Given the description of an element on the screen output the (x, y) to click on. 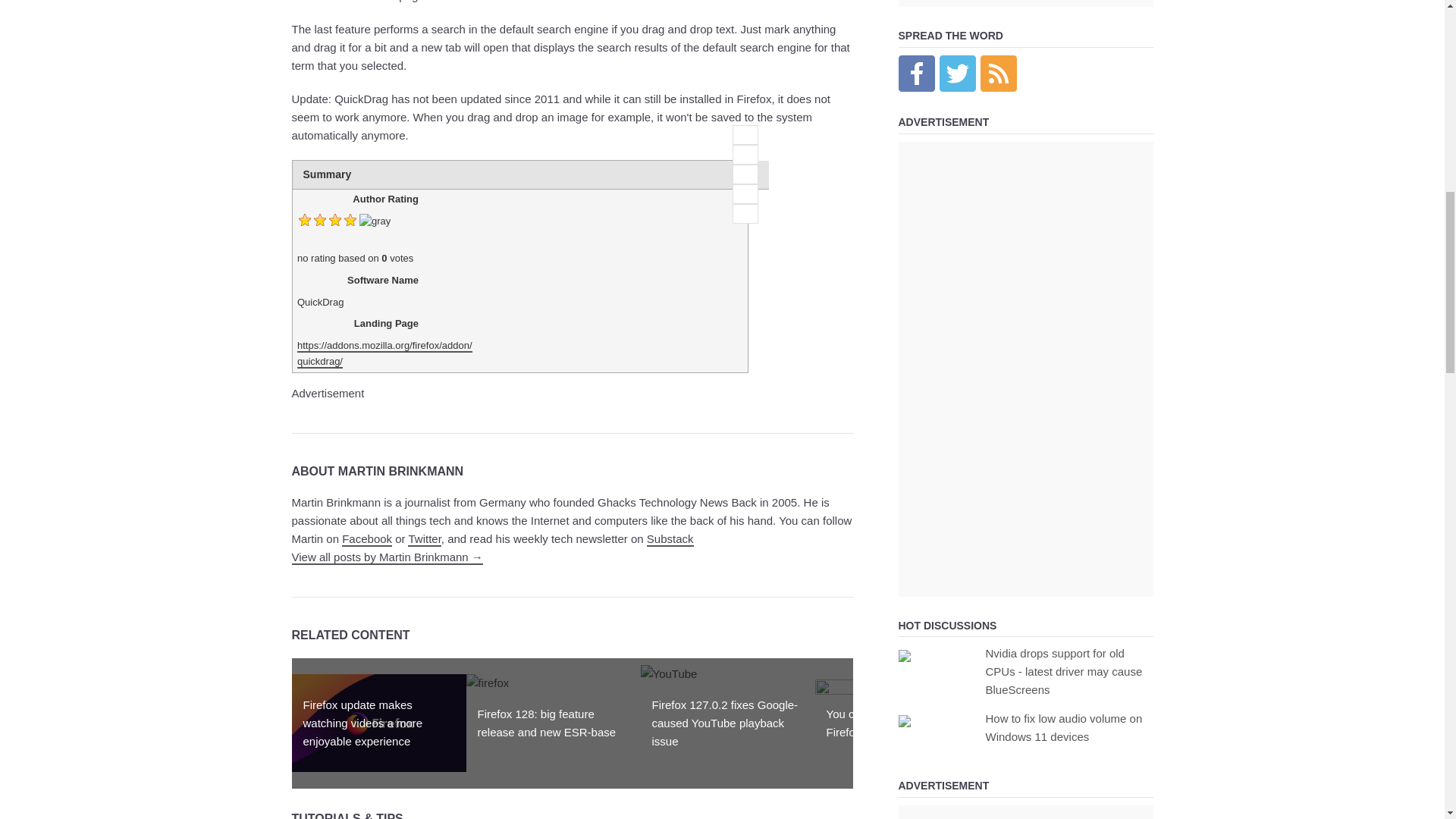
5 (745, 213)
3 (745, 174)
4 (745, 193)
2 (745, 154)
1 (745, 134)
